Given the description of an element on the screen output the (x, y) to click on. 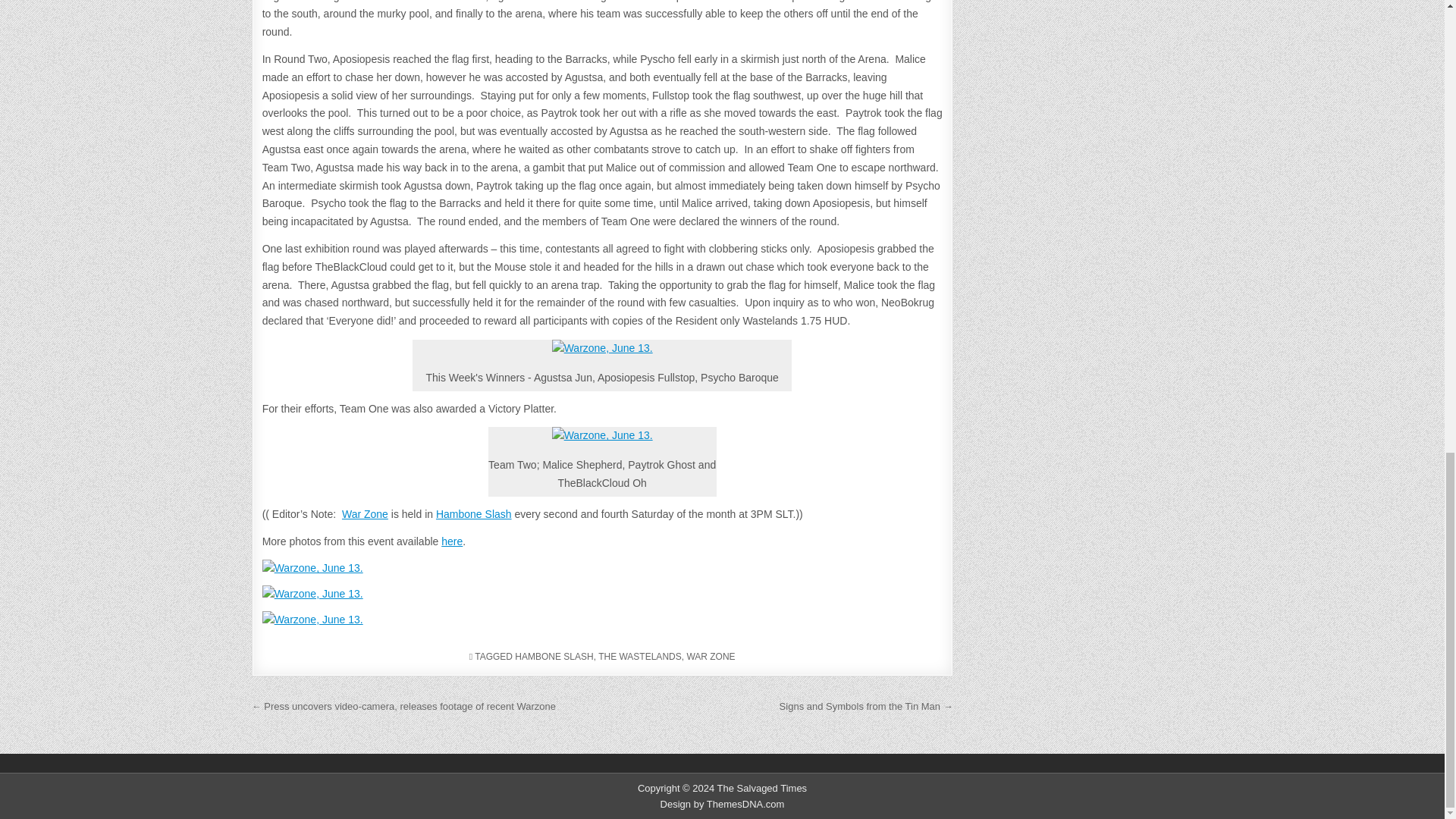
Warzone, June 13. (602, 350)
War Zone (365, 513)
Warzone, June 13. (602, 568)
Warzone, June 13. (602, 619)
here (452, 541)
HAMBONE SLASH (553, 656)
Hambone Slash (473, 513)
Warzone, June 13. (601, 437)
